Given the description of an element on the screen output the (x, y) to click on. 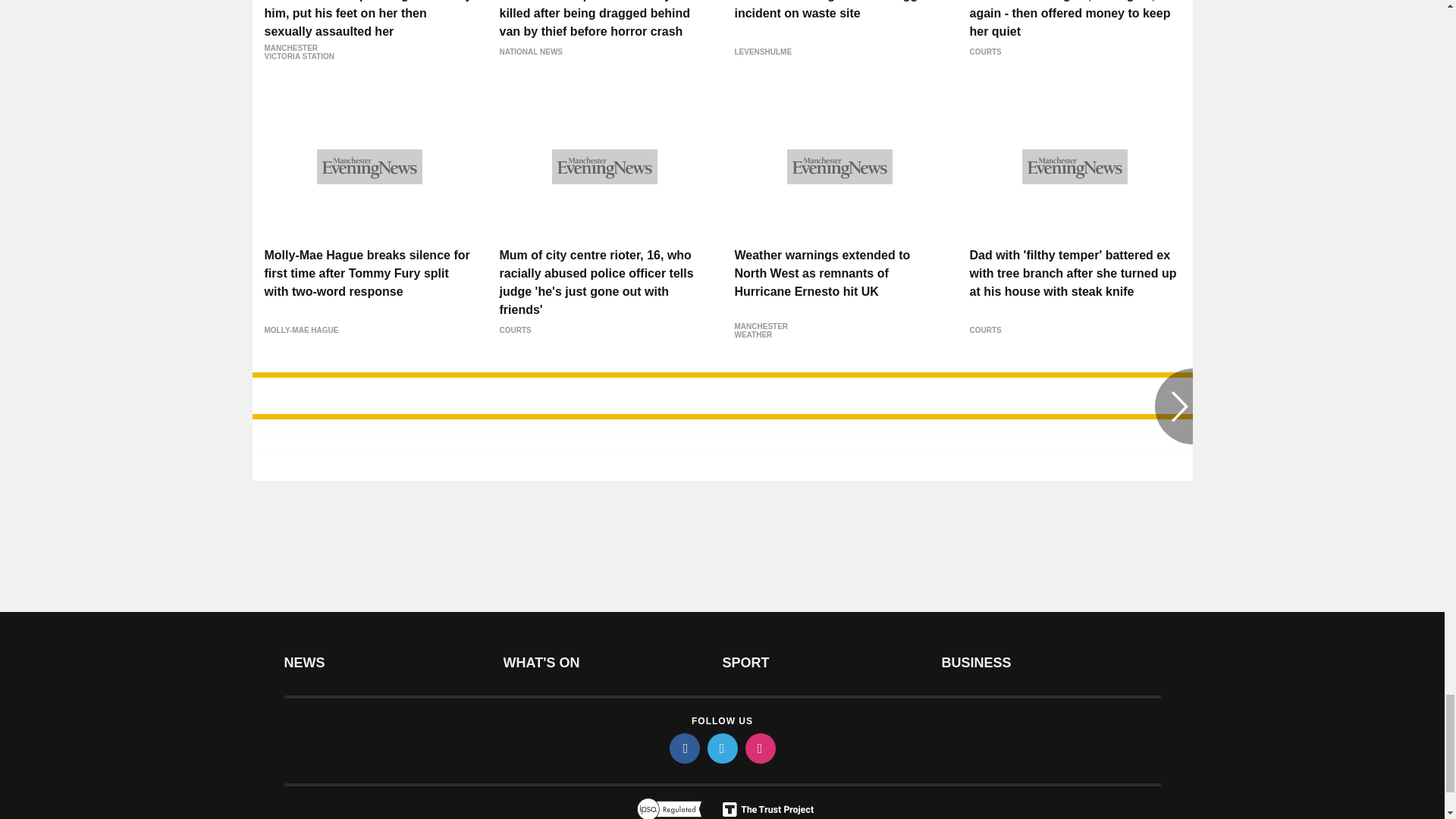
instagram (759, 748)
twitter (721, 748)
facebook (683, 748)
